Given the description of an element on the screen output the (x, y) to click on. 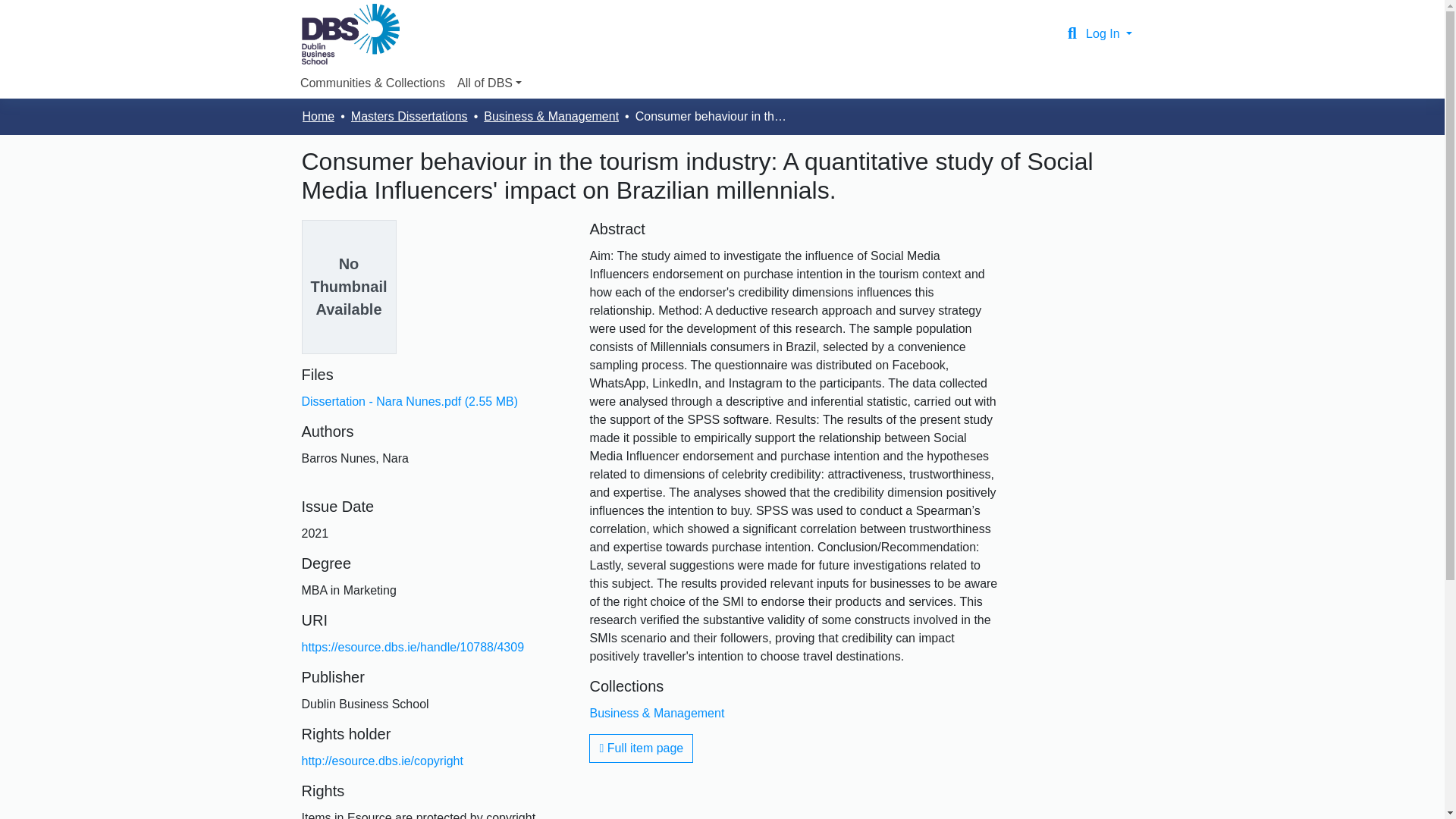
Masters Dissertations (408, 116)
All of DBS (489, 82)
Full item page (641, 747)
Home (317, 116)
Search (1072, 34)
Log In (1108, 33)
